Given the description of an element on the screen output the (x, y) to click on. 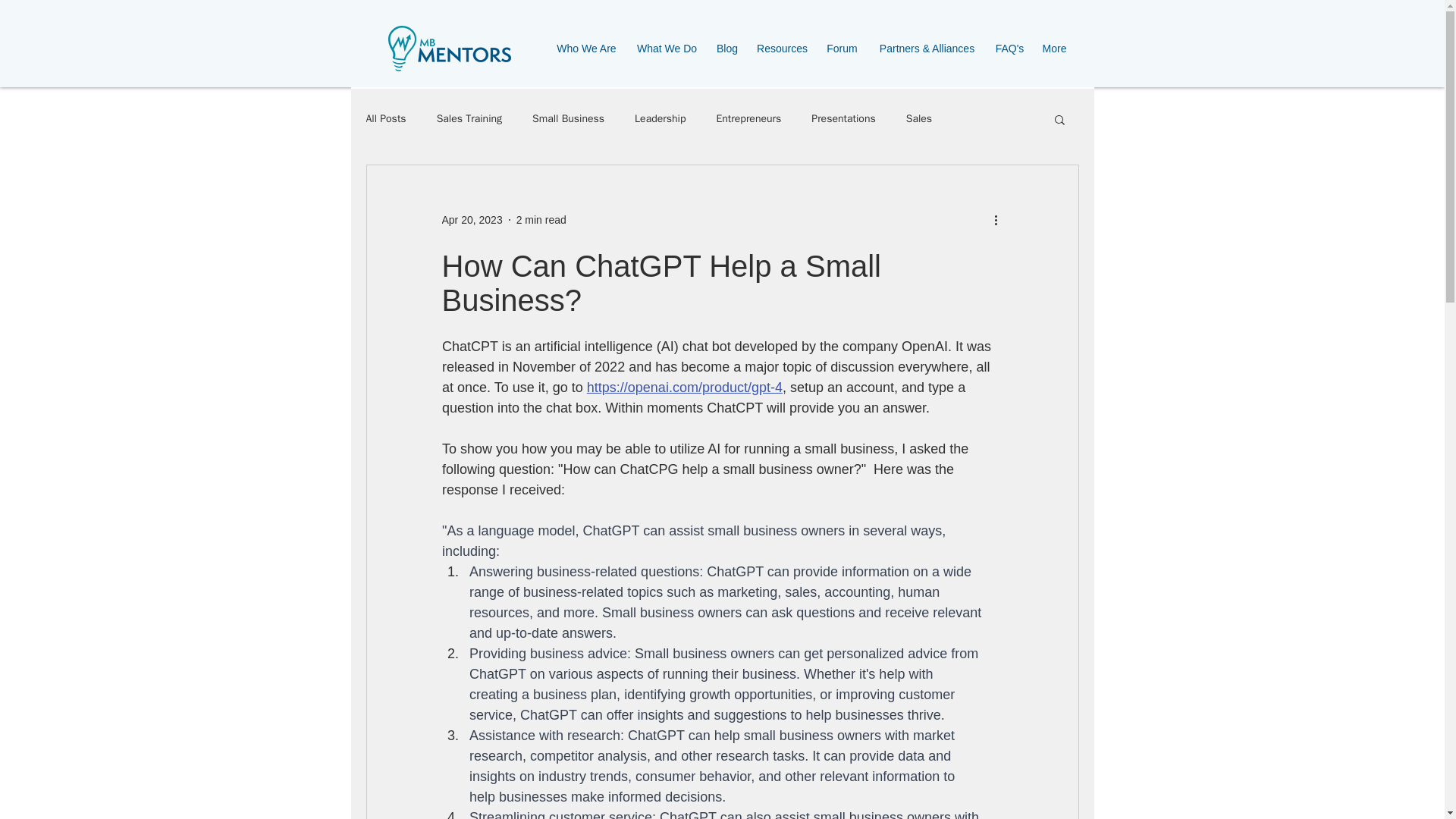
2 min read (541, 219)
Leadership (659, 119)
Small Business (568, 119)
Sales Training (469, 119)
All Posts (385, 119)
FAQ's (1009, 48)
Forum (841, 48)
Blog (726, 48)
Apr 20, 2023 (471, 219)
What We Do (666, 48)
Who We Are (586, 48)
Resources (782, 48)
